Given the description of an element on the screen output the (x, y) to click on. 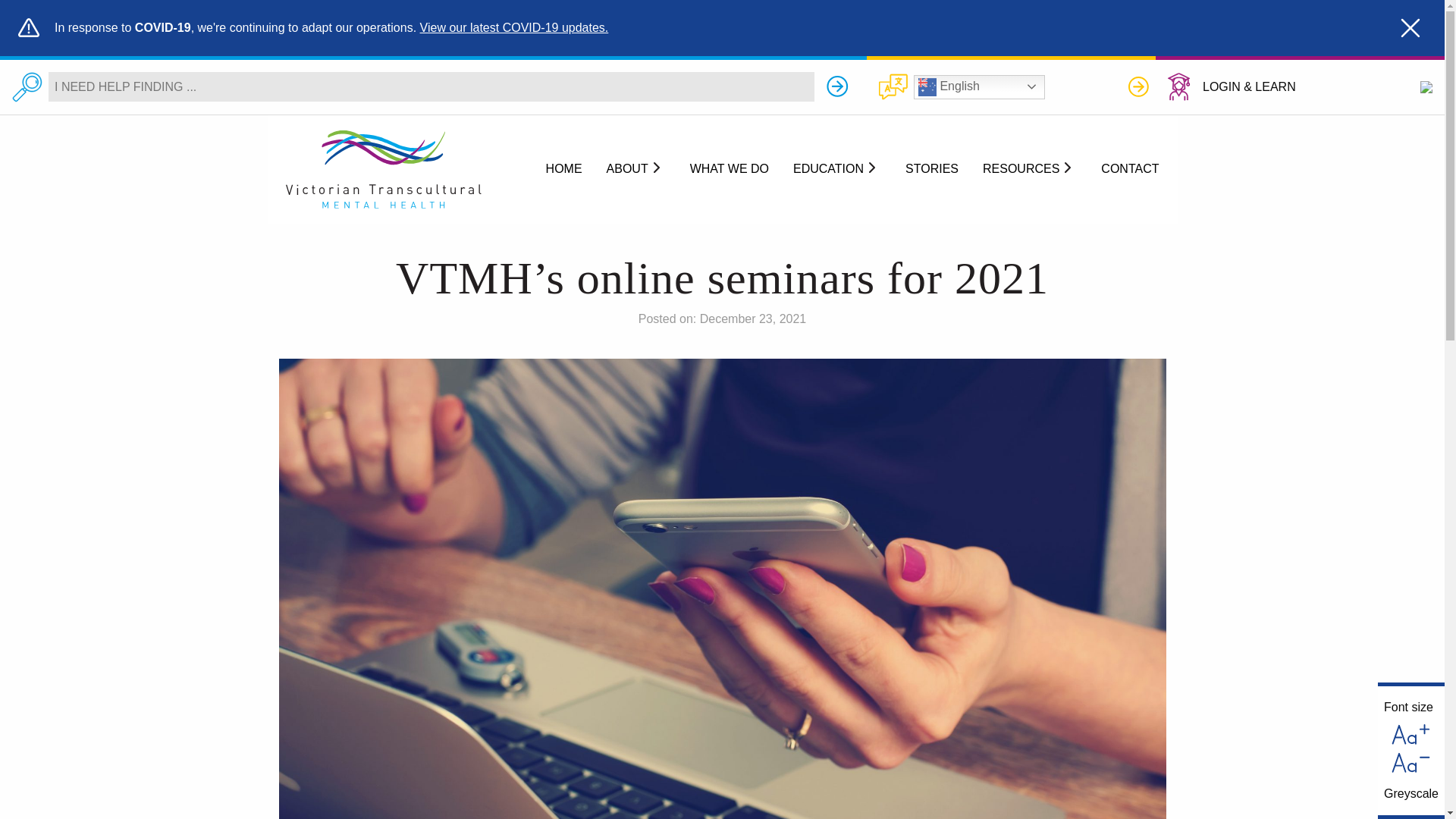
View our latest COVID-19 updates. (514, 27)
